Given the description of an element on the screen output the (x, y) to click on. 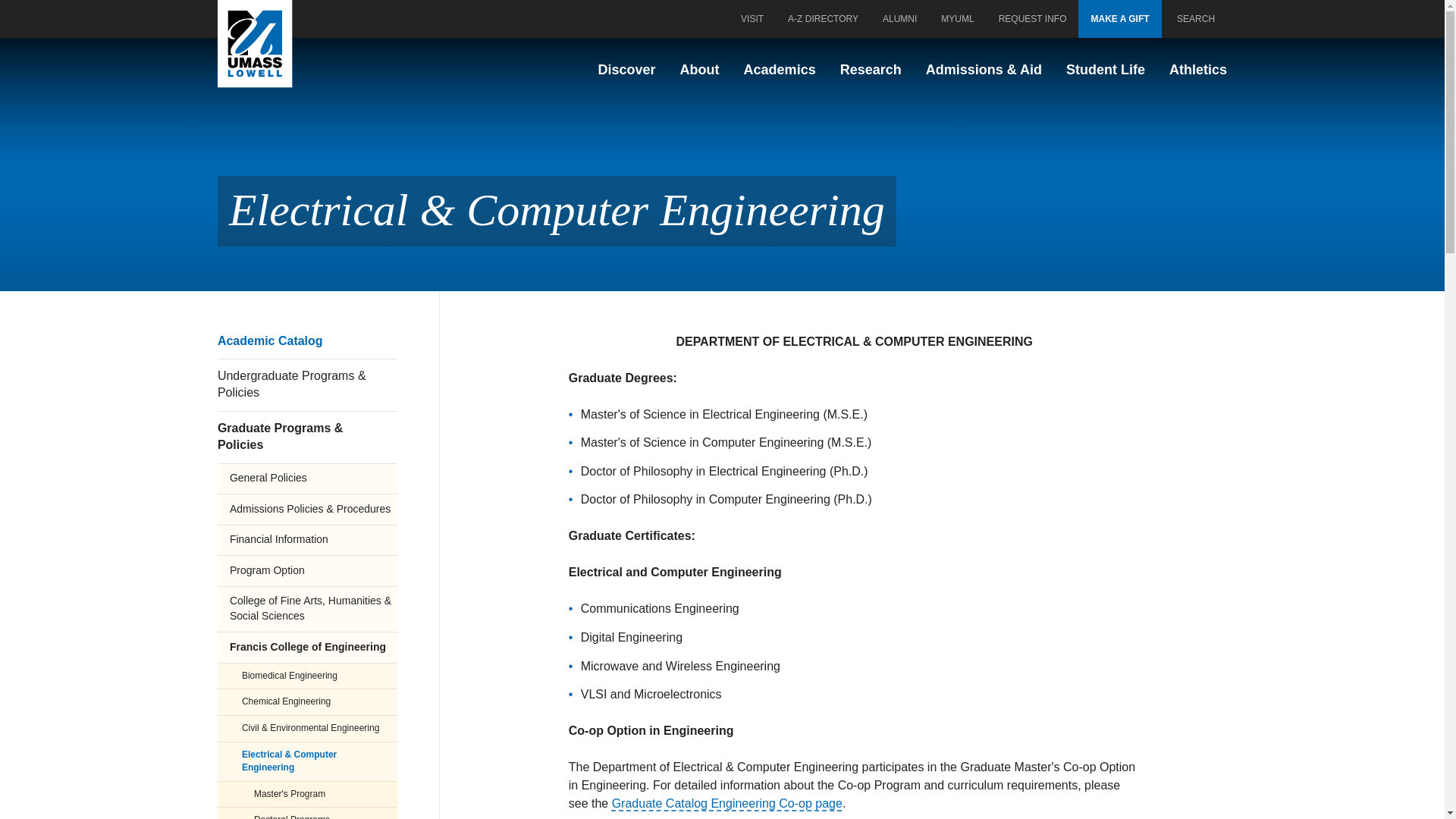
VISIT (752, 18)
About (699, 69)
Athletics (1198, 69)
Visit (752, 18)
Biomedical Engineering (306, 675)
General Policies (306, 478)
REQUEST INFO (1032, 18)
Chemical Engineering (306, 701)
Master's Program (306, 794)
Research (870, 69)
MyUML (956, 18)
SEARCH (1194, 18)
Graduate Master's Co-op Option in Engineering (727, 802)
MYUML (956, 18)
Program Option (306, 570)
